Given the description of an element on the screen output the (x, y) to click on. 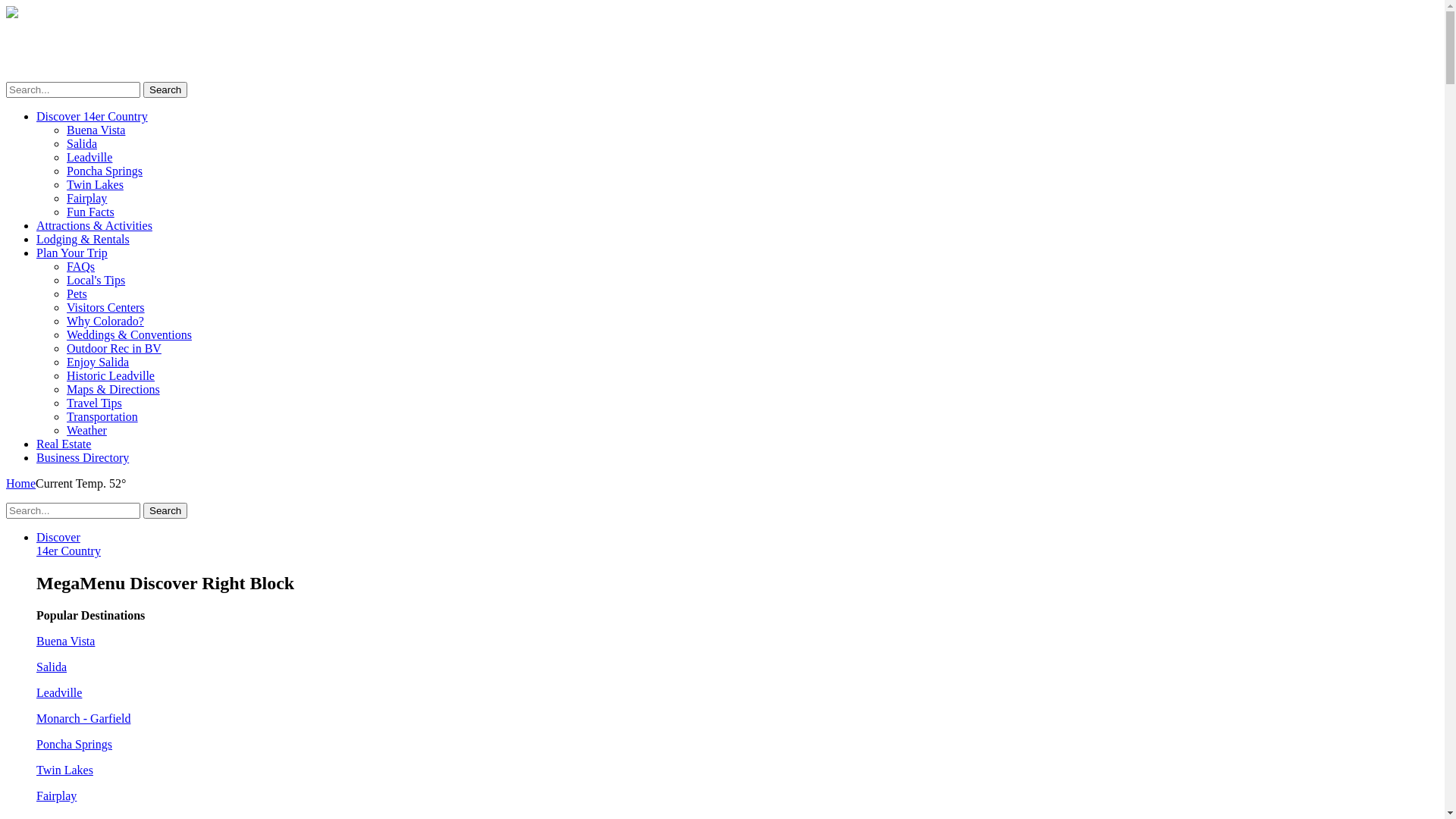
Travel Tips Element type: text (94, 402)
Fairplay Element type: text (56, 795)
FAQs Element type: text (80, 266)
Business Directory Element type: text (82, 457)
Home Element type: text (20, 482)
Maps & Directions Element type: text (113, 388)
Search Element type: text (165, 89)
Poncha Springs Element type: text (104, 170)
Fun Facts Element type: text (90, 211)
Buena Vista Element type: text (65, 640)
Lodging & Rentals Element type: text (82, 238)
Fairplay Element type: text (86, 197)
Attractions & Activities Element type: text (94, 225)
Buena Vista Element type: text (95, 129)
Historic Leadville Element type: text (110, 375)
Real Estate Element type: text (63, 443)
Outdoor Rec in BV Element type: text (113, 348)
Poncha Springs Element type: text (74, 743)
Twin Lakes Element type: text (64, 769)
Visitors Centers Element type: text (105, 307)
Weather Element type: text (86, 429)
Local's Tips Element type: text (95, 279)
Why Colorado? Element type: text (105, 320)
Monarch - Garfield Element type: text (83, 718)
Discover 14er Country Element type: text (91, 115)
Twin Lakes Element type: text (94, 184)
Enjoy Salida Element type: text (97, 361)
Pets Element type: text (76, 293)
Weddings & Conventions Element type: text (128, 334)
Transportation Element type: text (102, 416)
Salida Element type: text (51, 666)
Leadville Element type: text (58, 692)
Plan Your Trip Element type: text (71, 252)
Search Element type: text (165, 510)
Leadville Element type: text (89, 156)
Discover
14er Country Element type: text (68, 543)
Salida Element type: text (81, 143)
